Given the description of an element on the screen output the (x, y) to click on. 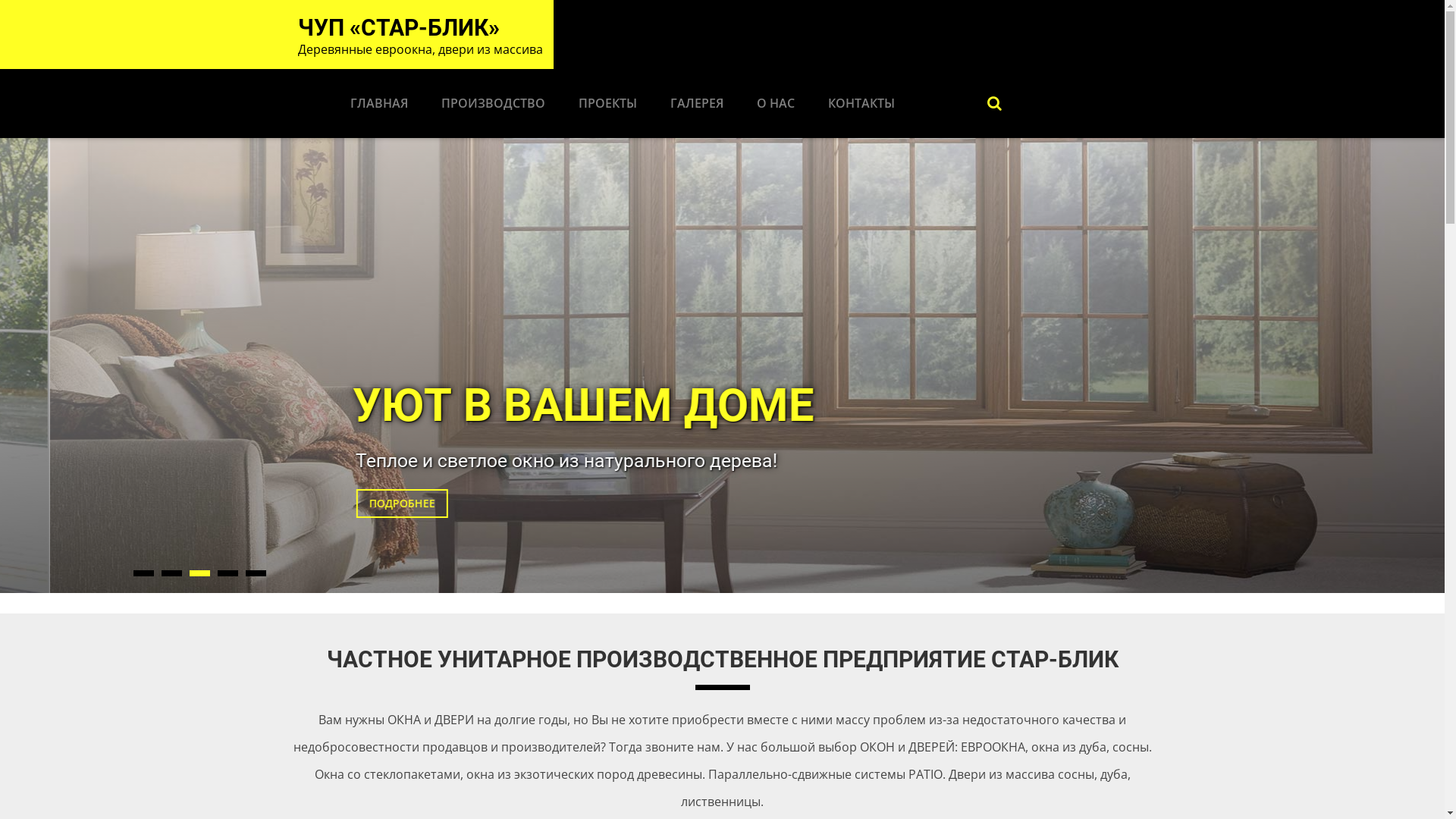
5 Element type: text (255, 573)
1 Element type: text (143, 573)
3 Element type: text (199, 573)
4 Element type: text (227, 573)
2 Element type: text (171, 573)
